Given the description of an element on the screen output the (x, y) to click on. 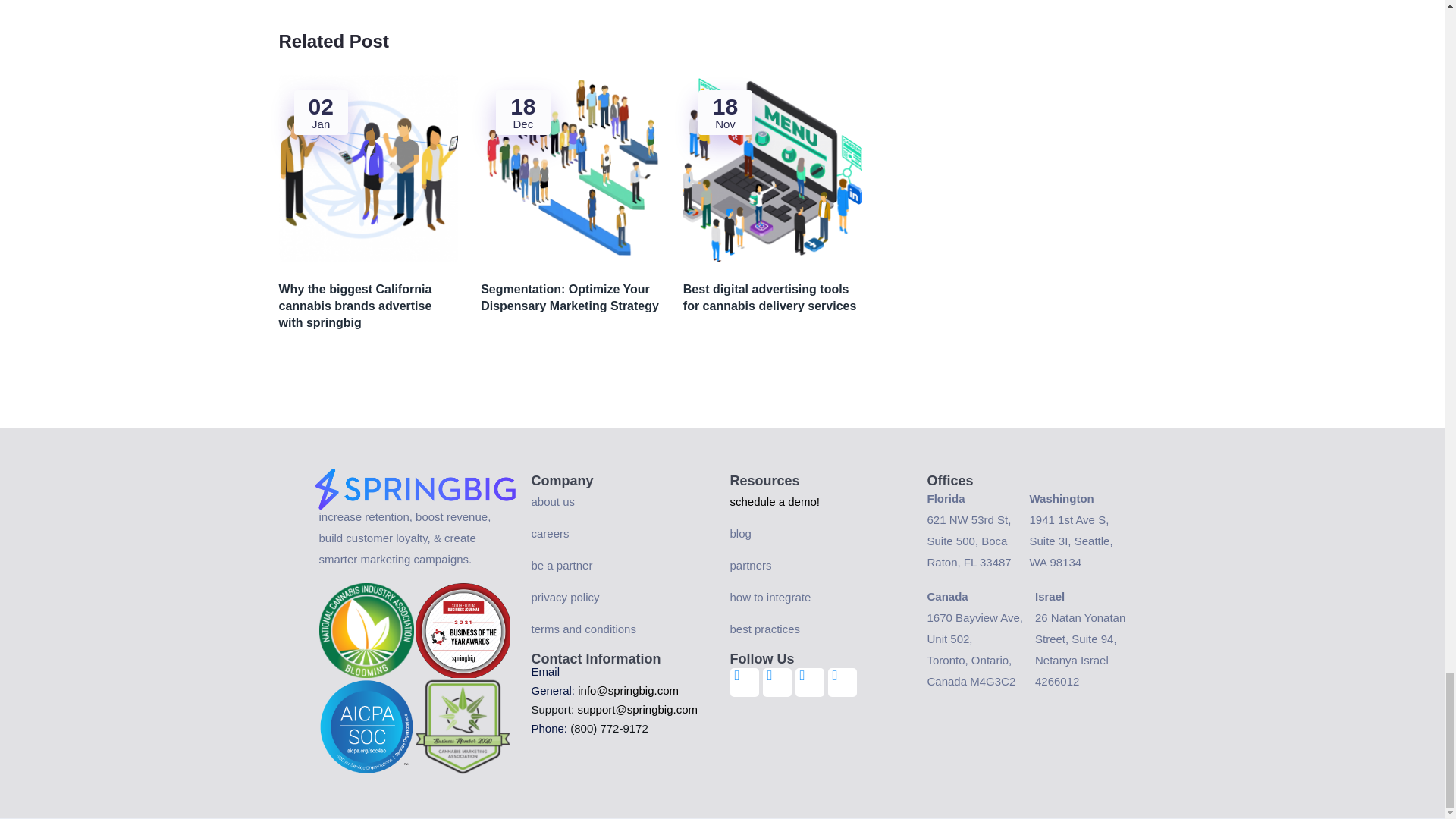
Segmentation: Optimize Your Dispensary Marketing Strategy (570, 297)
